Given the description of an element on the screen output the (x, y) to click on. 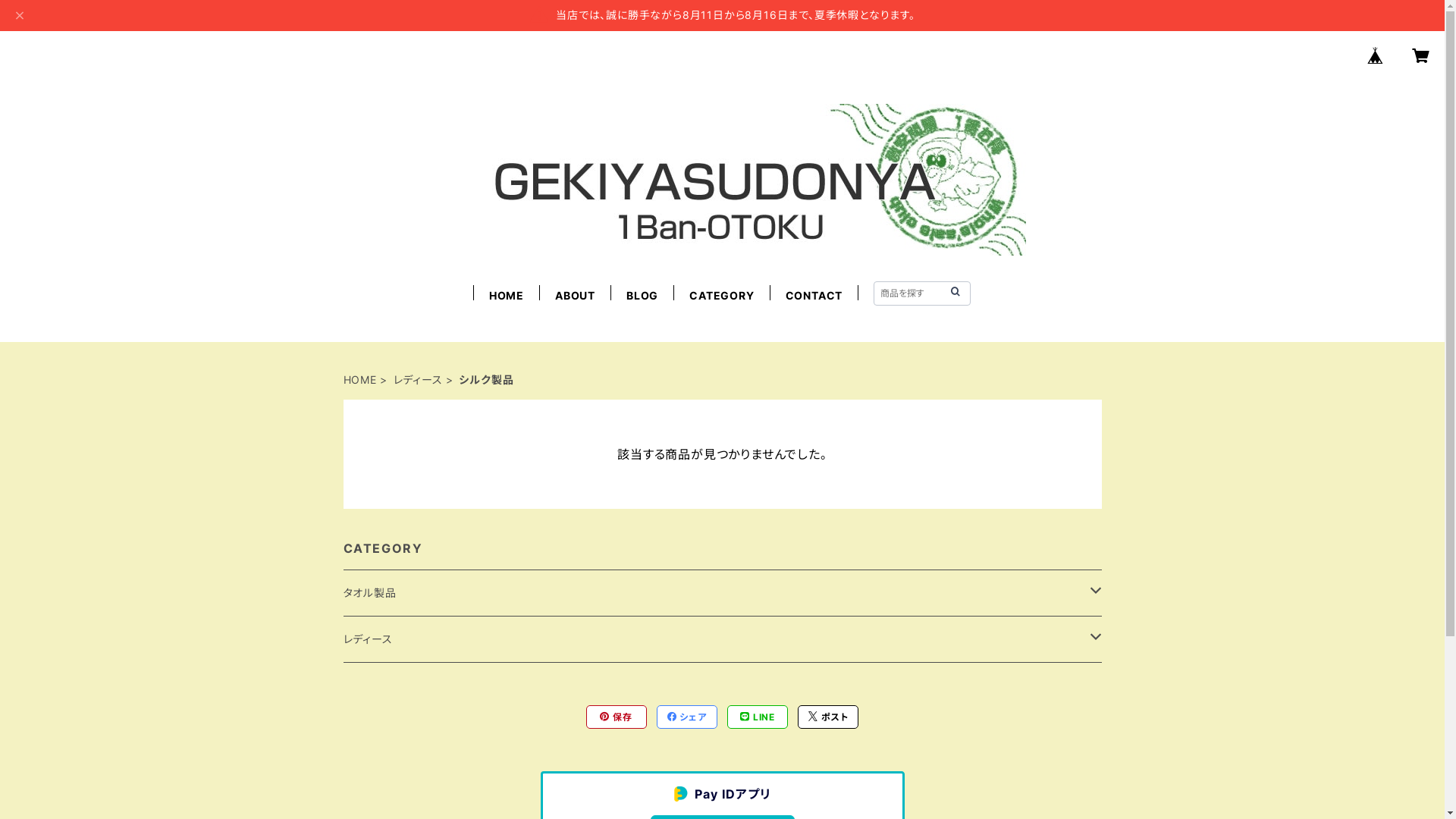
HOME Element type: text (506, 294)
ABOUT Element type: text (575, 294)
CONTACT Element type: text (814, 294)
LINE Element type: text (757, 717)
HOME Element type: text (359, 379)
BLOG Element type: text (642, 294)
